Given the description of an element on the screen output the (x, y) to click on. 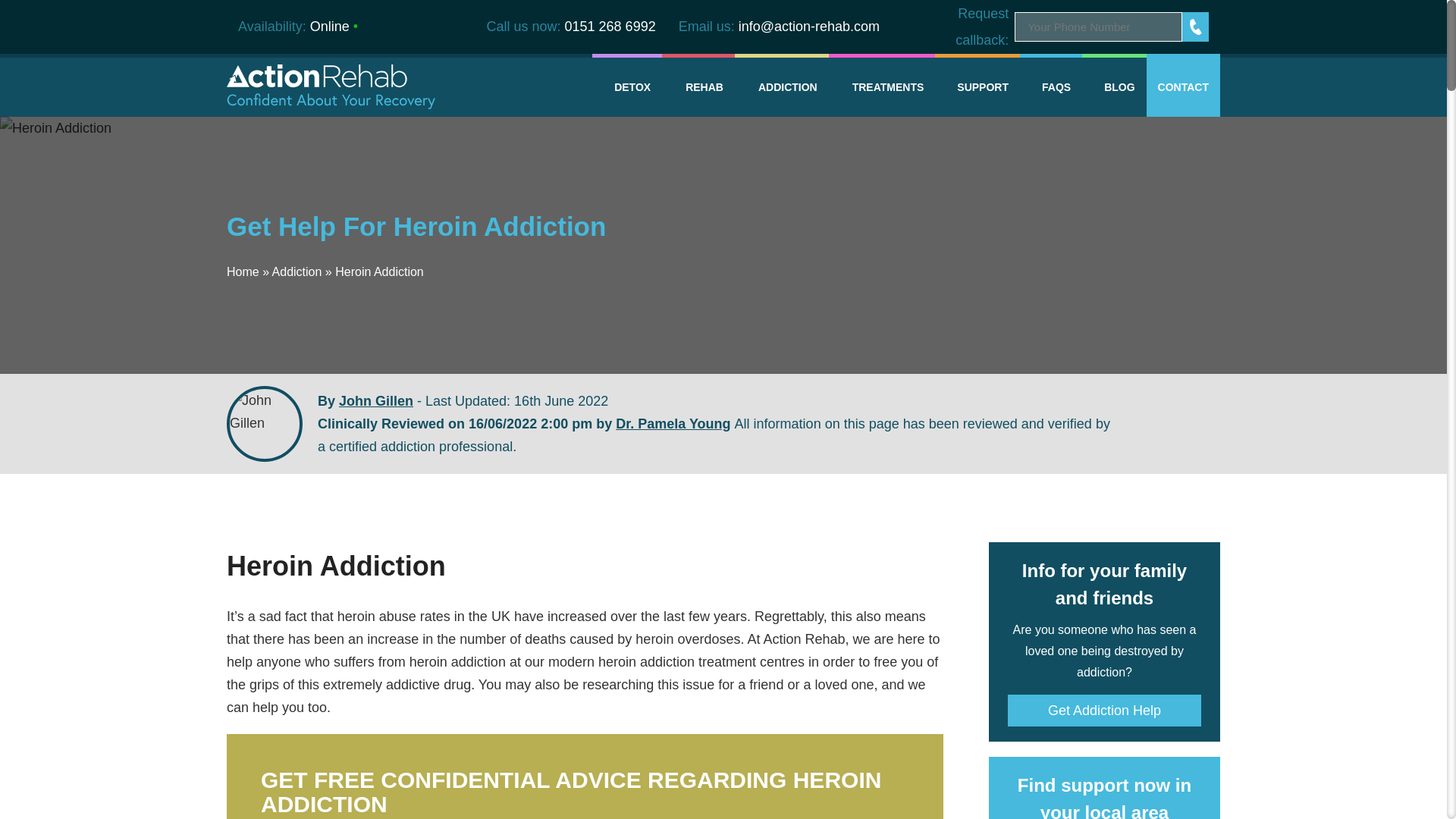
ADDICTION (781, 87)
0151 268 6992 (610, 26)
SUPPORT (977, 87)
REHAB (698, 87)
TREATMENTS (882, 87)
DETOX (627, 87)
Action Rehab (331, 86)
